Given the description of an element on the screen output the (x, y) to click on. 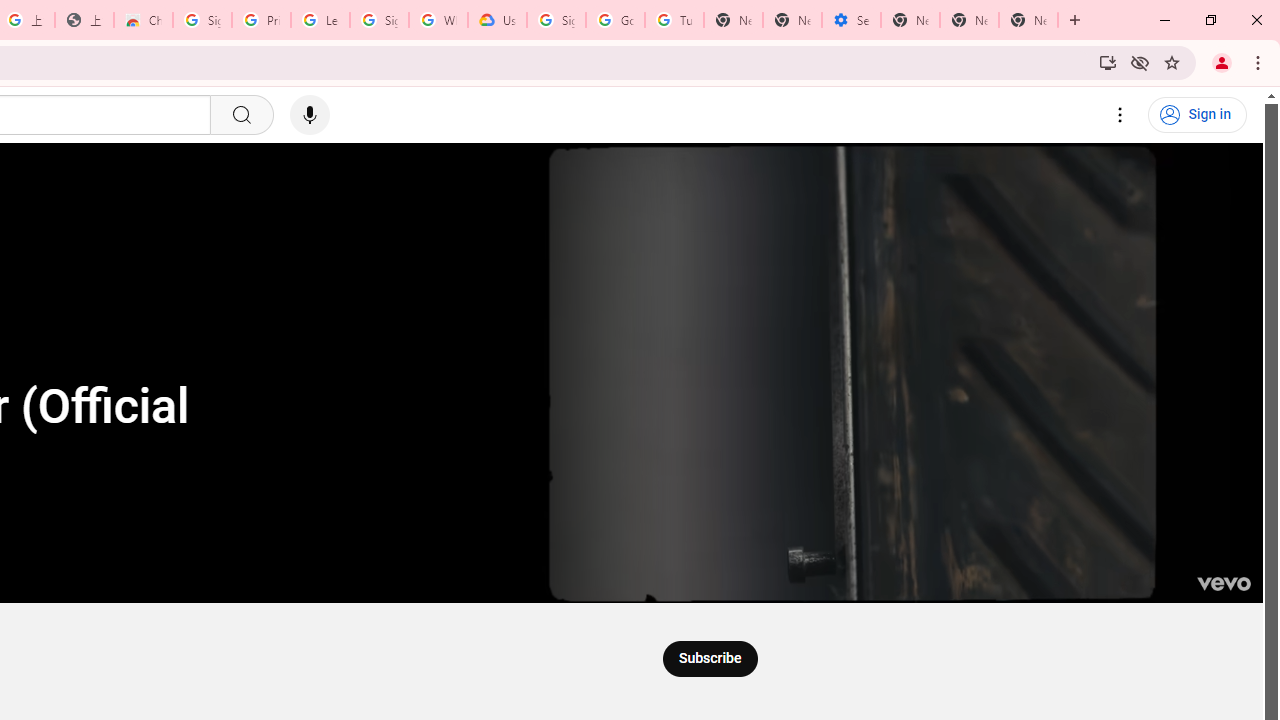
Install YouTube (1107, 62)
Who are Google's partners? - Privacy and conditions - Google (438, 20)
Google Account Help (615, 20)
Sign in - Google Accounts (556, 20)
Subscribe to Music. (709, 658)
Channel watermark (1223, 583)
